Given the description of an element on the screen output the (x, y) to click on. 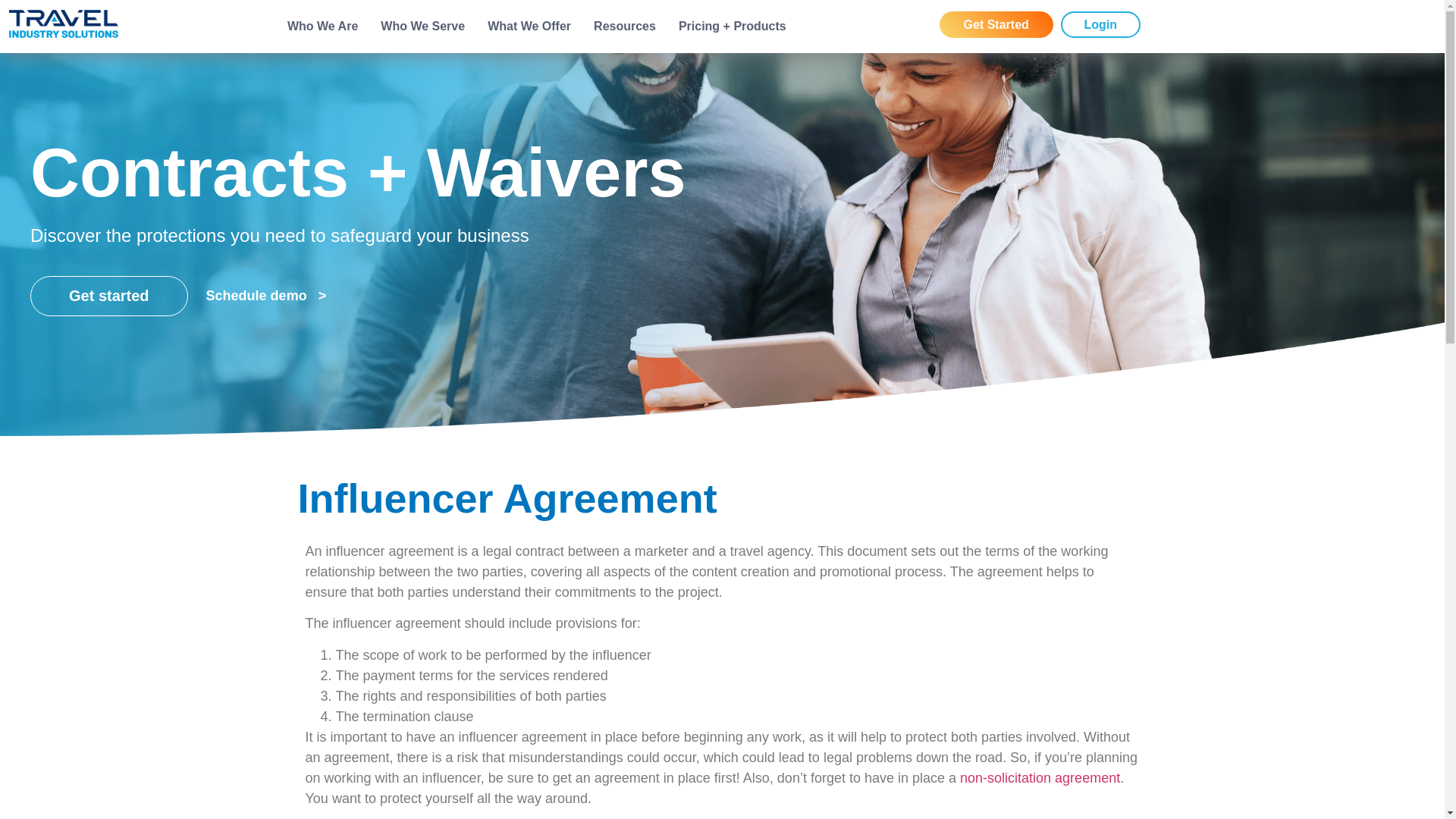
Who We Are (322, 26)
Who We Serve (499, 79)
Get Started (995, 24)
Who We Are (399, 79)
What We Offer (529, 26)
Who We Serve (421, 26)
Login (1100, 24)
Resources (624, 26)
